Given the description of an element on the screen output the (x, y) to click on. 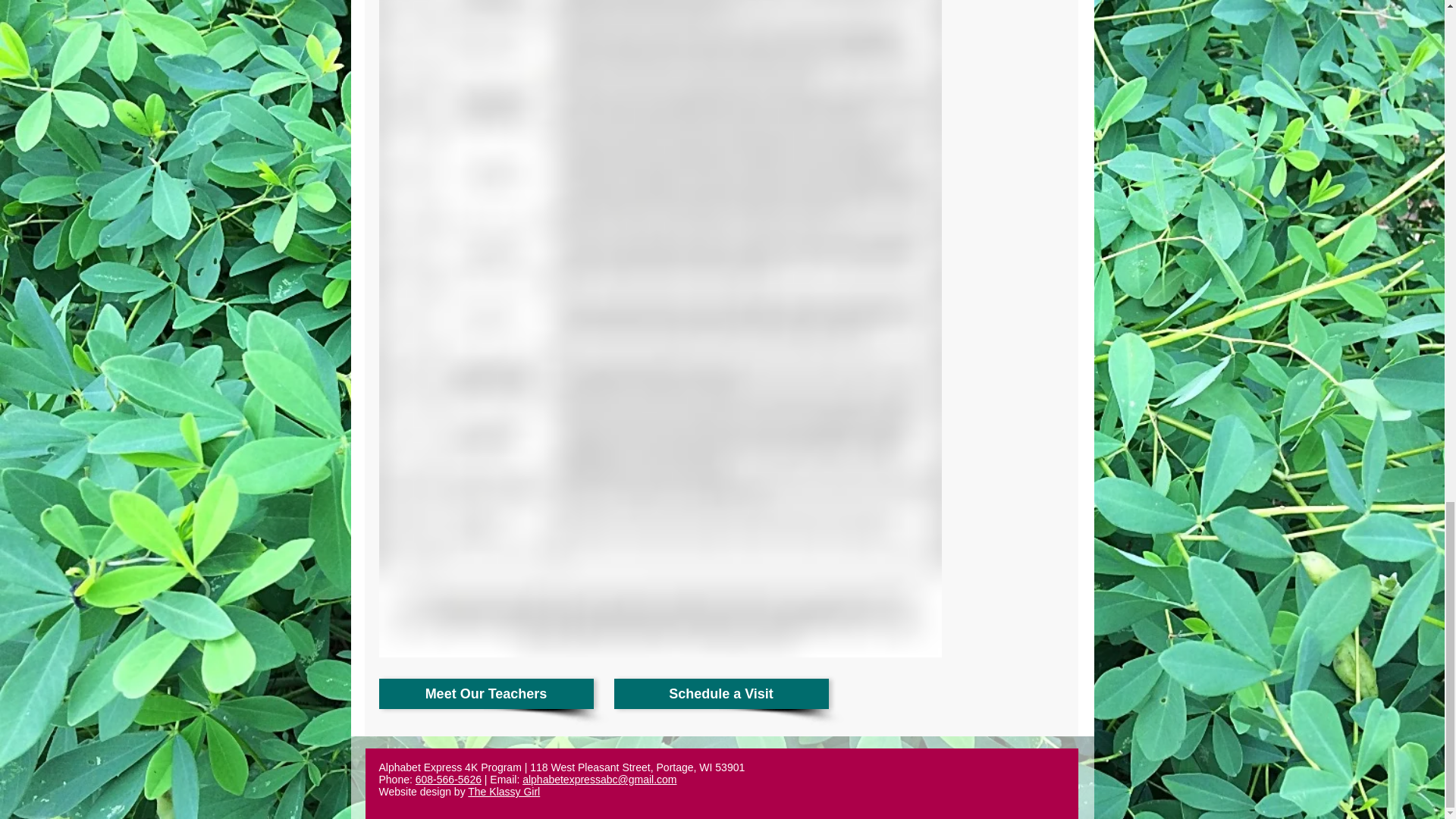
Meet Our Teachers (486, 693)
608-566-5626 (447, 779)
Schedule a Visit (721, 693)
The Klassy Girl (503, 791)
